Given the description of an element on the screen output the (x, y) to click on. 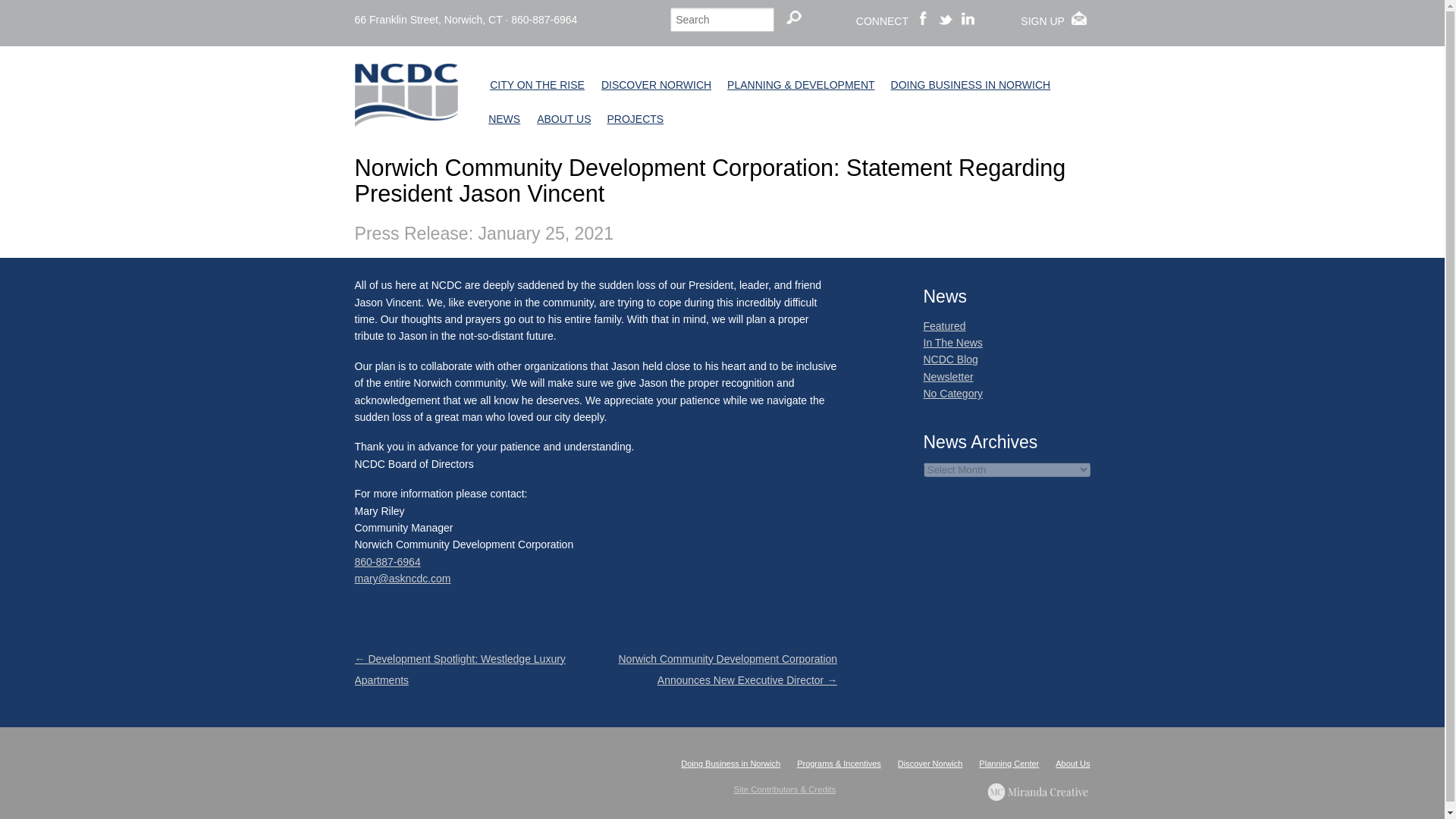
ABOUT US (562, 119)
NCDC (406, 113)
NEWS (503, 119)
DOING BUSINESS IN NORWICH (970, 84)
CITY ON THE RISE (536, 84)
DISCOVER NORWICH (655, 84)
